Given the description of an element on the screen output the (x, y) to click on. 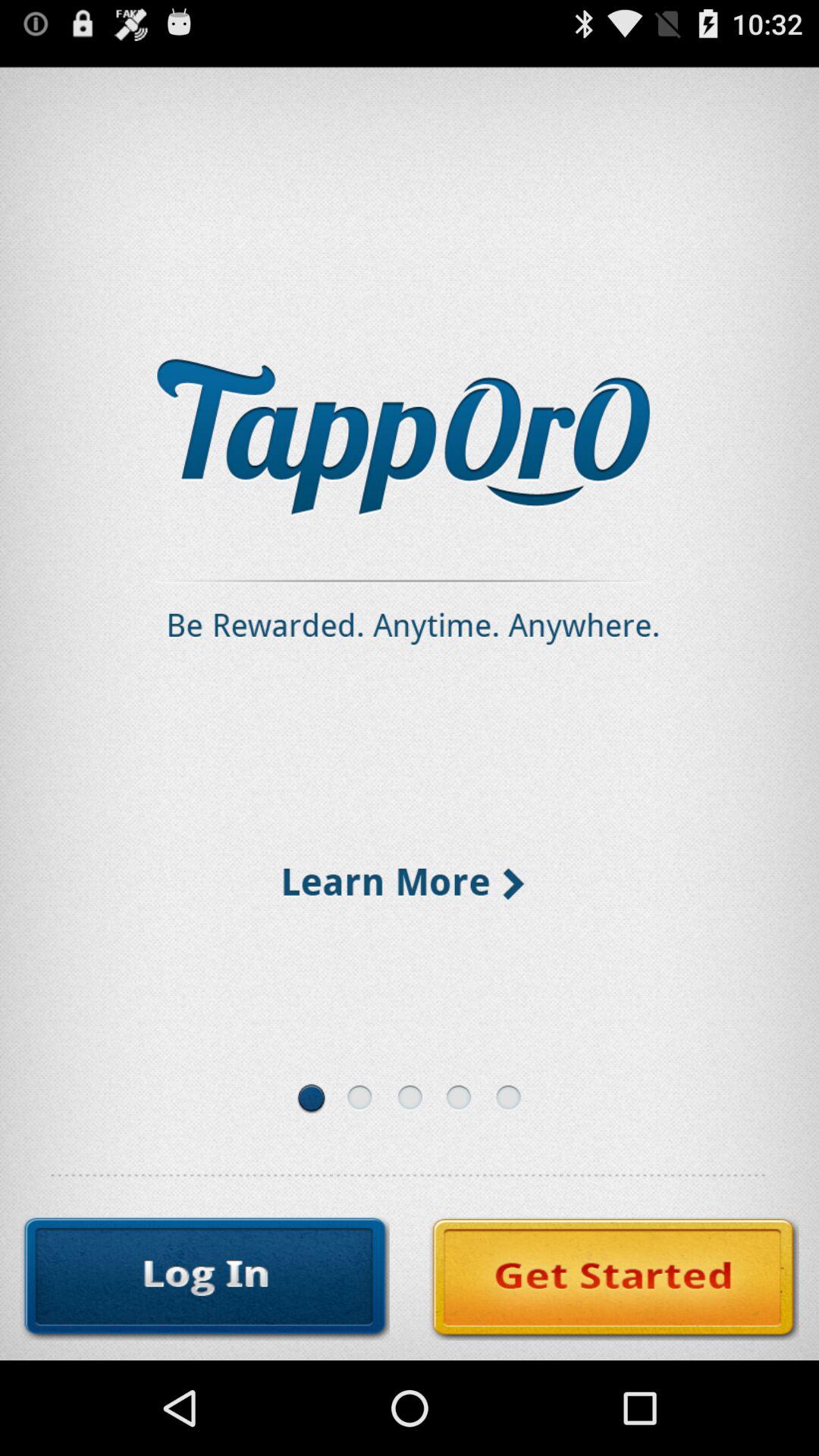
login (204, 1278)
